Given the description of an element on the screen output the (x, y) to click on. 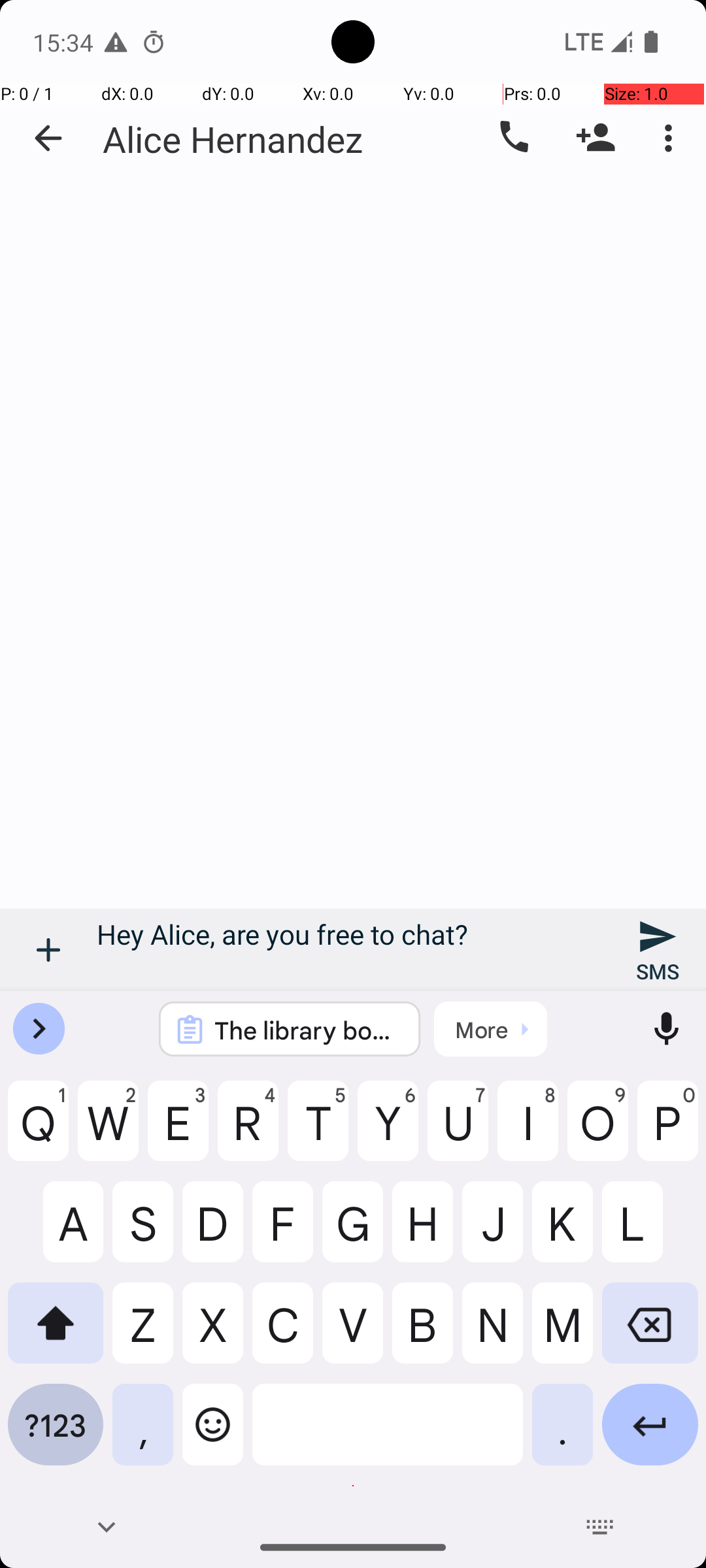
Alice Hernandez Element type: android.widget.TextView (232, 138)
Hey Alice, are you free to chat?
 Element type: android.widget.EditText (352, 949)
The library book is due back on the 15th. Element type: android.widget.TextView (306, 1029)
